Given the description of an element on the screen output the (x, y) to click on. 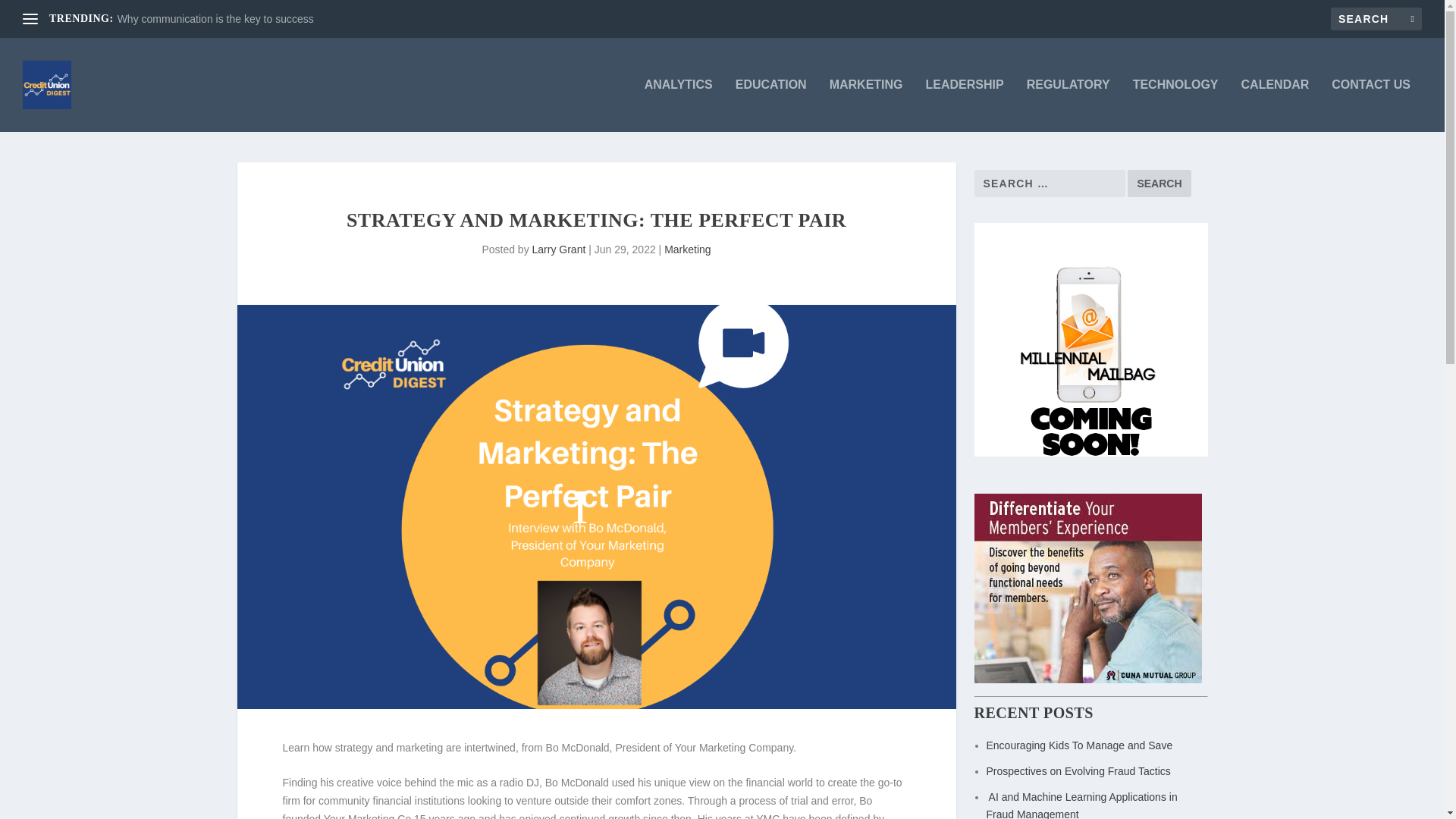
REGULATORY (1067, 104)
Search (1158, 183)
MARKETING (865, 104)
Search for: (1376, 18)
Larry Grant (559, 249)
ANALYTICS (679, 104)
Why communication is the key to success (215, 19)
TECHNOLOGY (1175, 104)
CONTACT US (1371, 104)
EDUCATION (770, 104)
Posts by Larry Grant (559, 249)
Search (1158, 183)
LEADERSHIP (965, 104)
Marketing (686, 249)
CALENDAR (1274, 104)
